Given the description of an element on the screen output the (x, y) to click on. 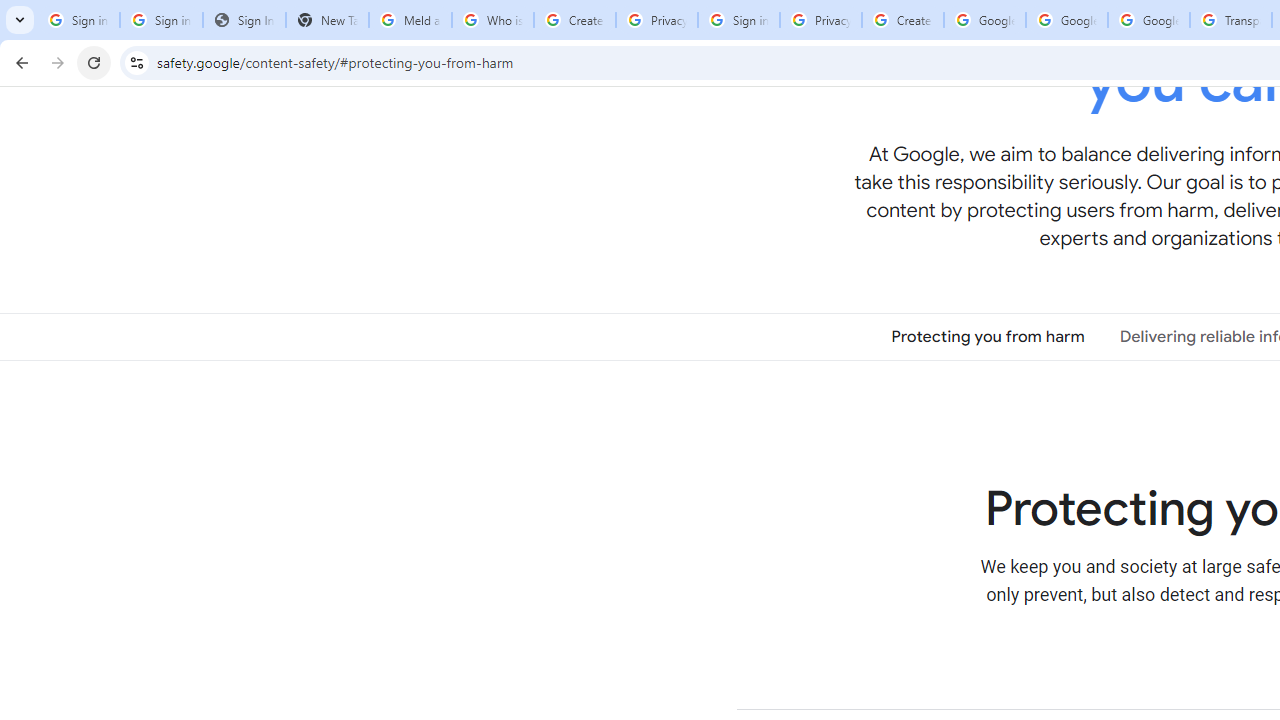
Create your Google Account (574, 20)
Sign in - Google Accounts (161, 20)
